Given the description of an element on the screen output the (x, y) to click on. 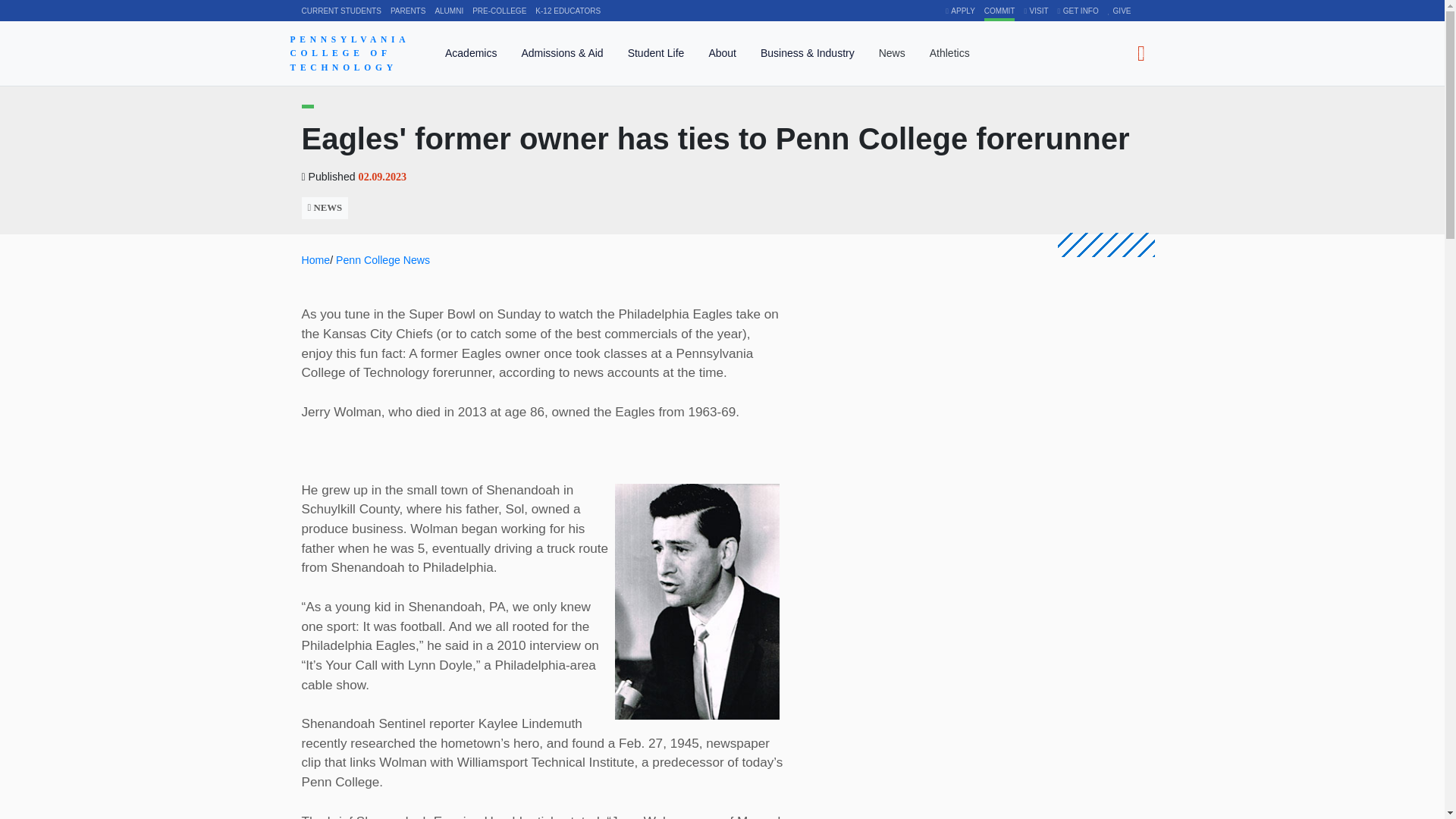
COMMIT (999, 10)
APPLY (959, 10)
Search (1141, 52)
About (721, 56)
GIVE (1119, 10)
Athletics (949, 56)
Home (354, 52)
Search (1141, 52)
